Given the description of an element on the screen output the (x, y) to click on. 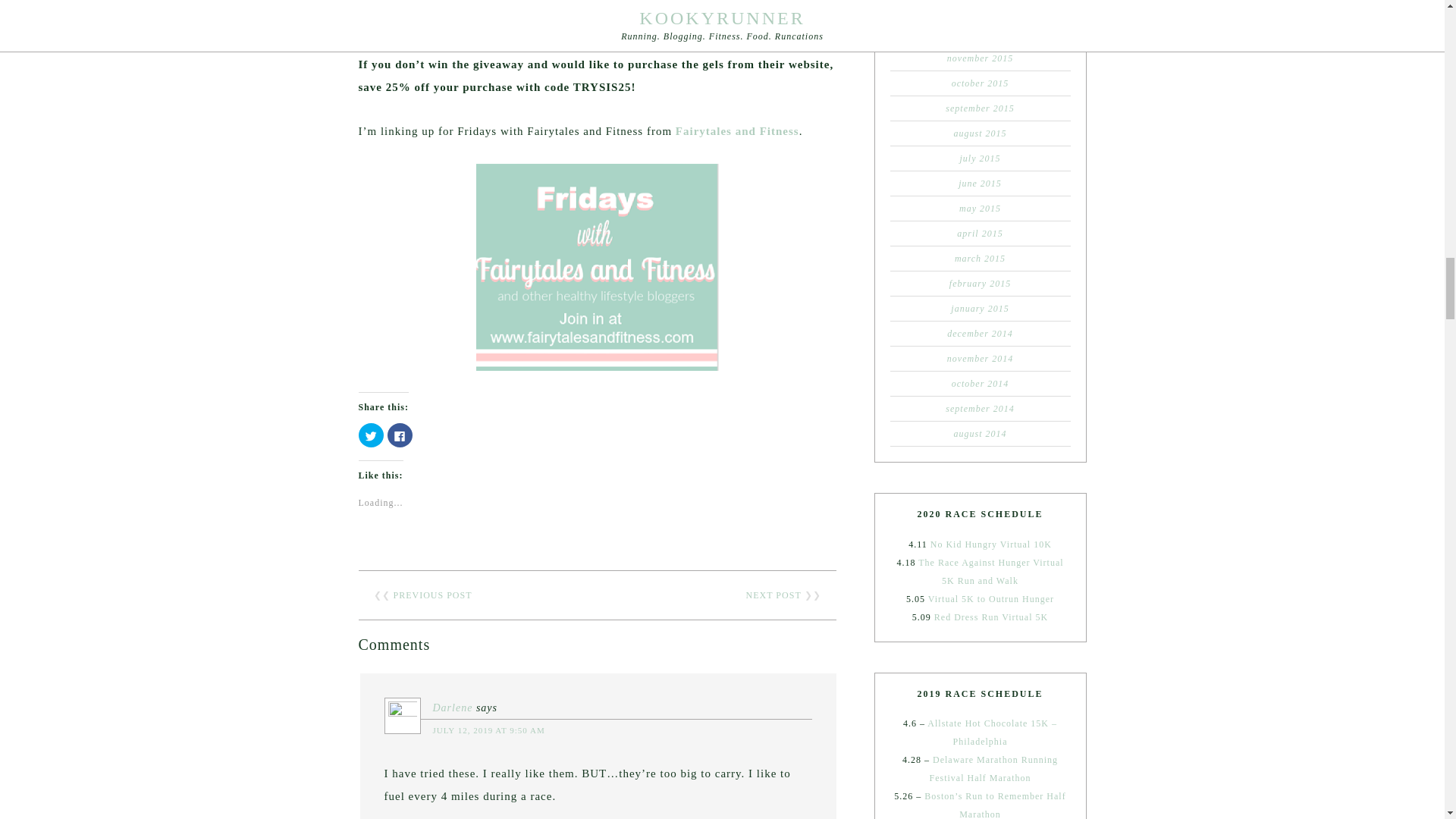
Science in Sport for Your Tummy (446, 2)
Click to share on Twitter (370, 435)
Darlene (451, 707)
Click to share on Facebook (399, 435)
NEXT POST (773, 594)
JULY 12, 2019 AT 9:50 AM (488, 729)
PREVIOUS POST (432, 594)
Fairytales and Fitness (737, 131)
